Given the description of an element on the screen output the (x, y) to click on. 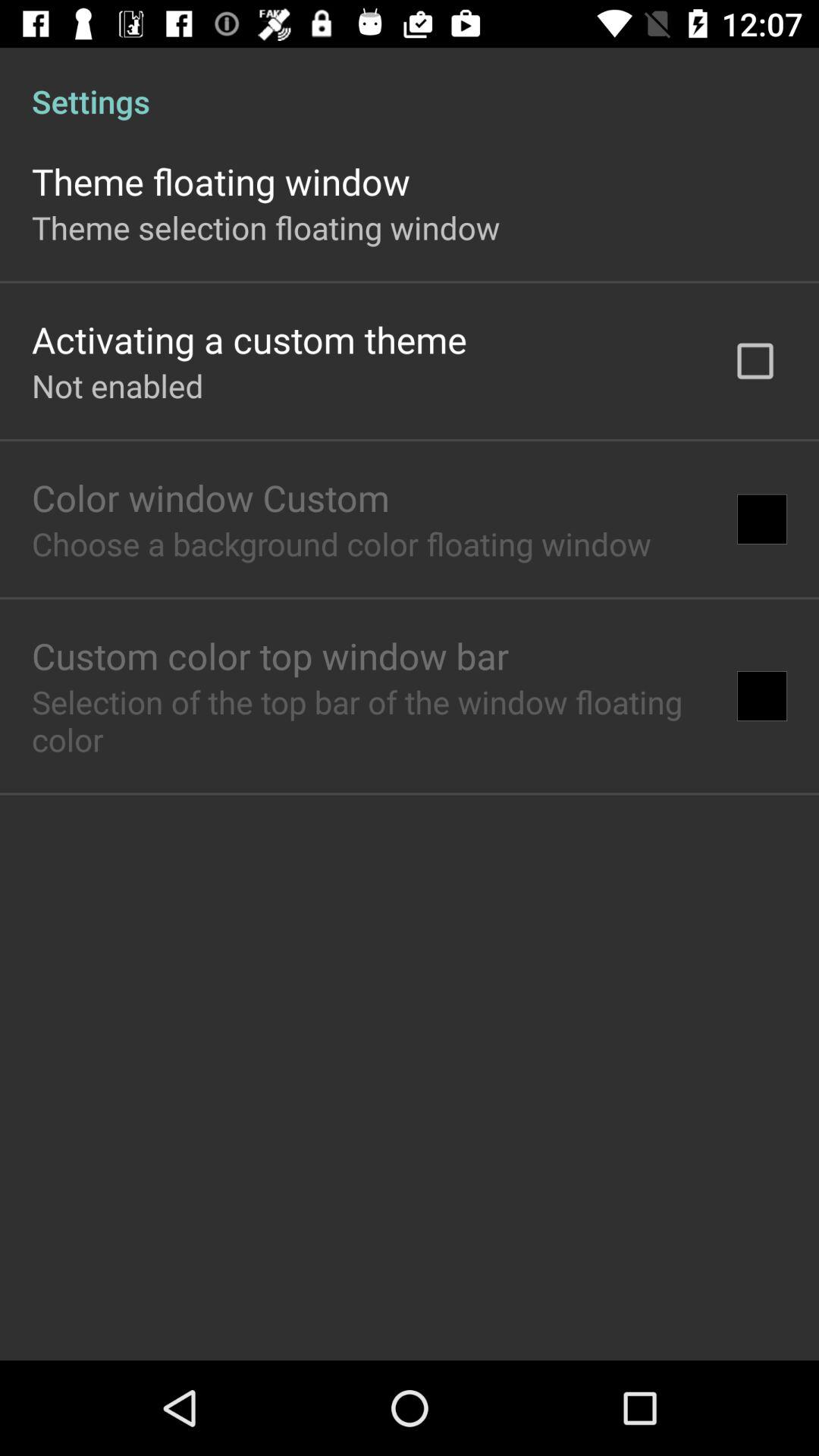
tap item above the custom color top item (341, 543)
